Given the description of an element on the screen output the (x, y) to click on. 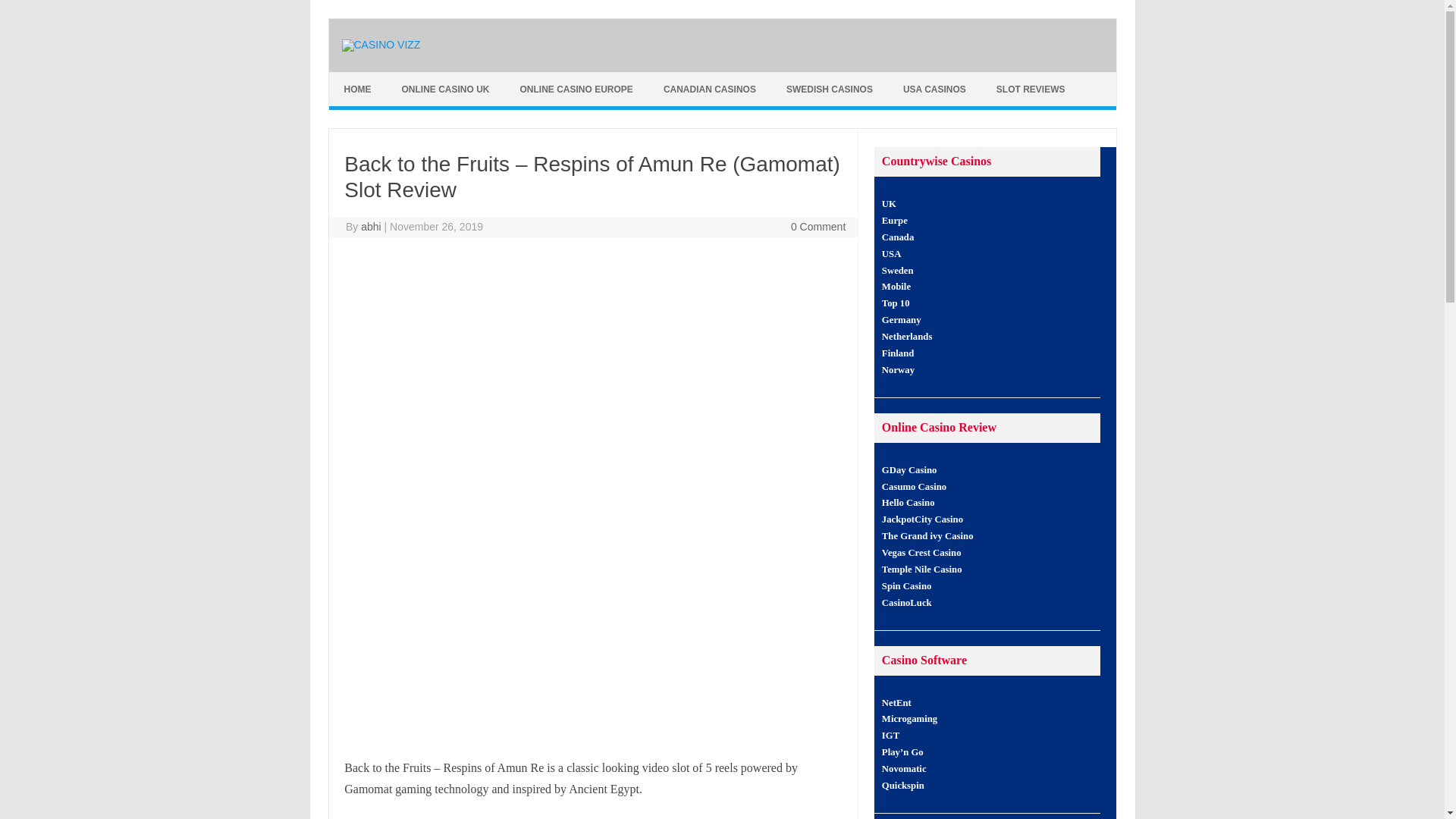
Canada (898, 236)
USA CASINOS (934, 89)
SLOT REVIEWS (1030, 89)
Posts by abhi (370, 226)
ONLINE CASINO UK (446, 89)
ONLINE CASINO EUROPE (576, 89)
Eurpe (894, 220)
UK (889, 204)
